Given the description of an element on the screen output the (x, y) to click on. 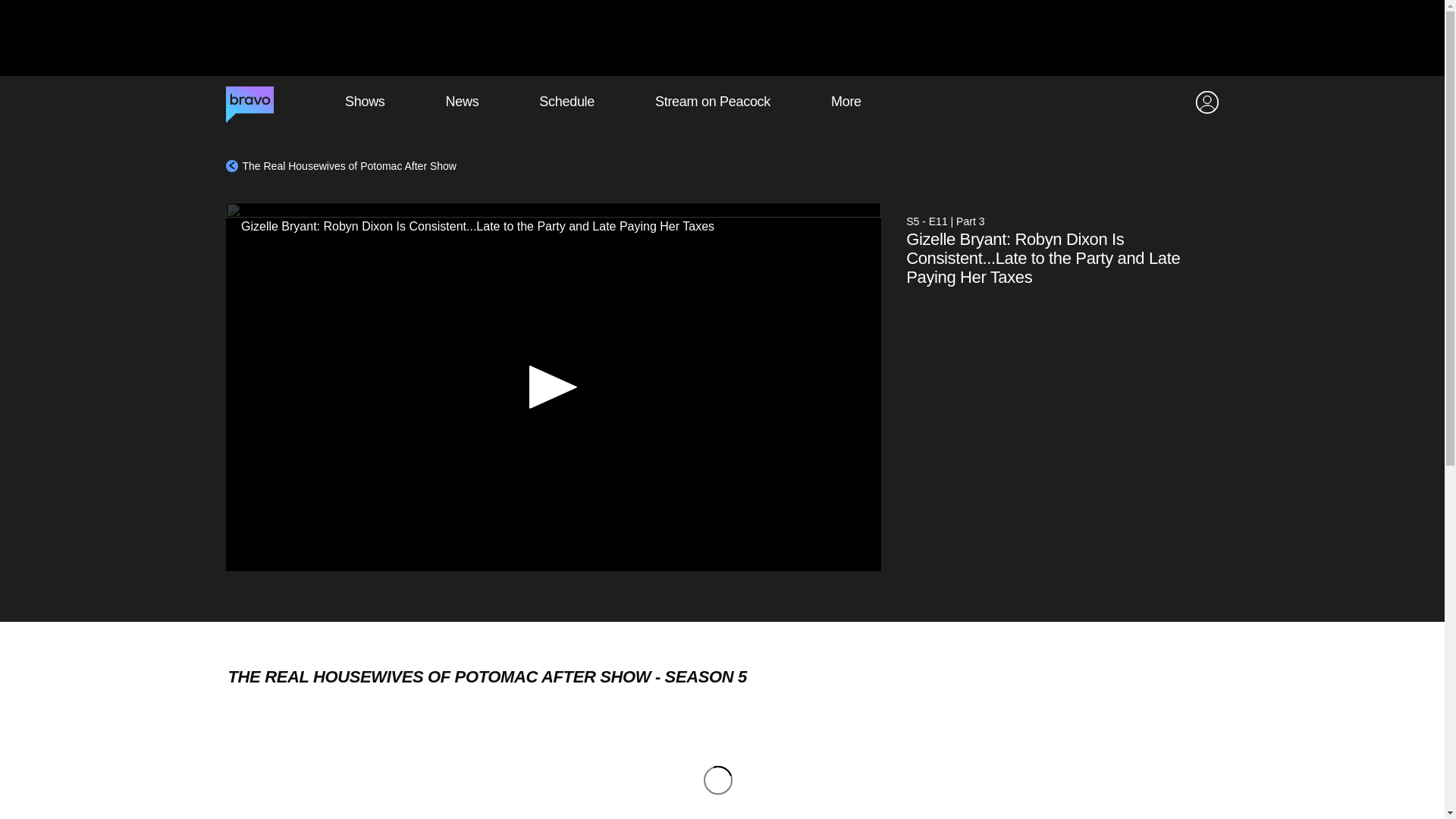
Stream on Peacock (712, 101)
Home (249, 102)
Shows (363, 101)
The Real Housewives of Potomac After Show (341, 165)
More (846, 101)
News (462, 101)
Schedule (566, 101)
